Given the description of an element on the screen output the (x, y) to click on. 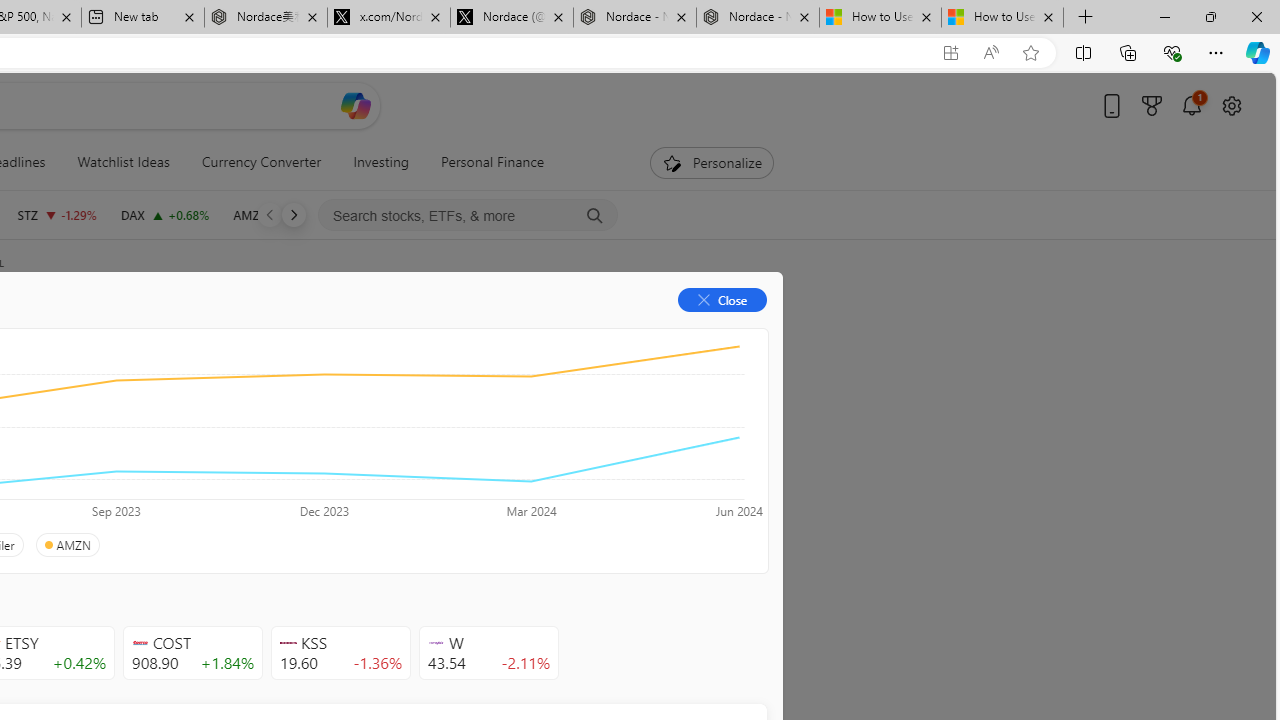
Previous (269, 214)
Microsoft rewards (1151, 105)
DAX DAX increase 18,808.50 +126.69 +0.68% (164, 214)
Watchlist Ideas (123, 162)
Browser essentials (1171, 52)
Settings and more (Alt+F) (1215, 52)
Financials (209, 331)
AMZN AMAZON.COM, INC. decrease 173.12 -2.38 -1.36% (280, 214)
Analysis (305, 331)
Efficiency (216, 445)
Summary (107, 331)
Copilot (Ctrl+Shift+.) (1258, 52)
Leverage & Liquidity (95, 445)
Search stocks, ETFs, & more (468, 215)
